Given the description of an element on the screen output the (x, y) to click on. 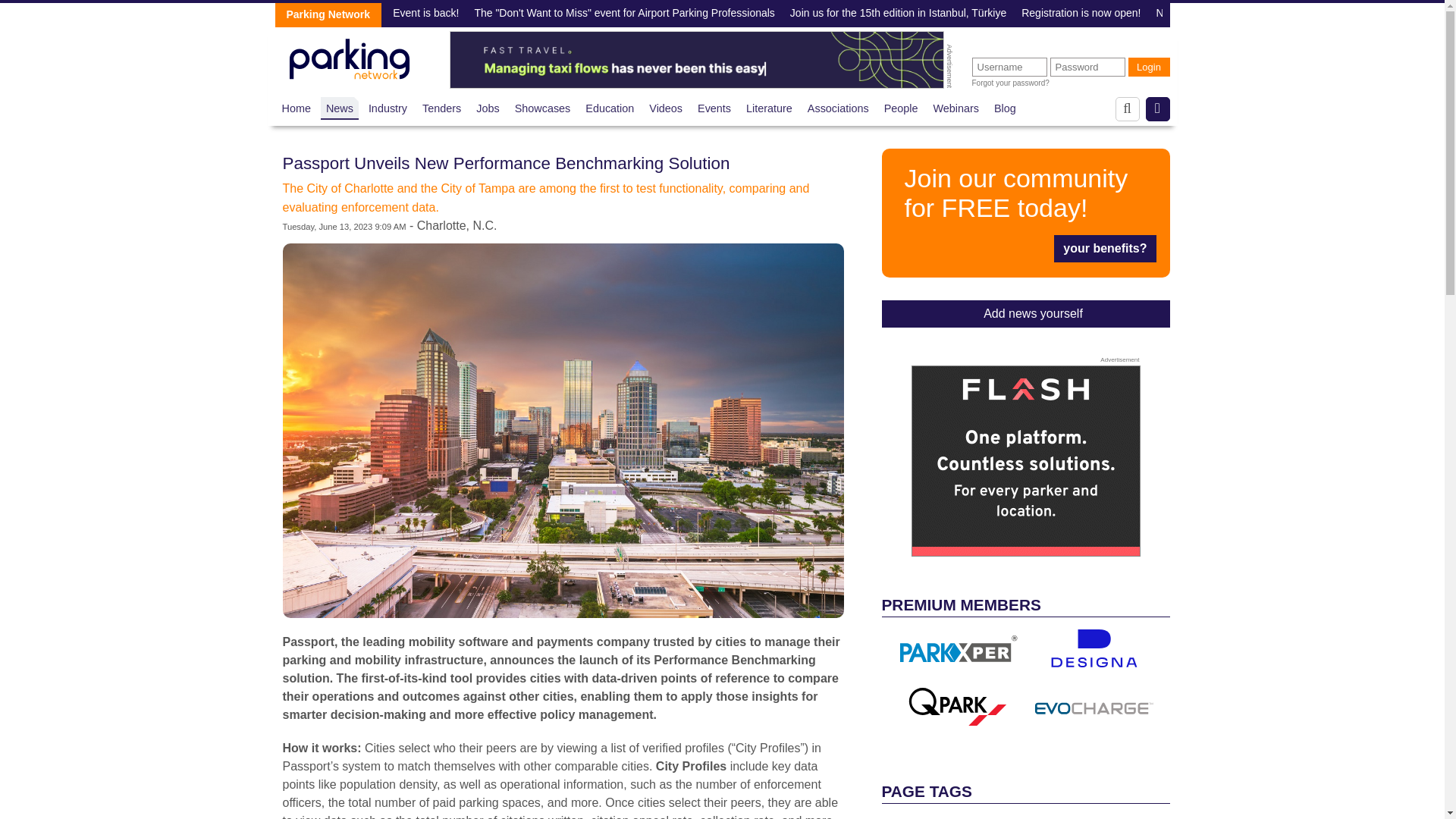
Register here (1024, 212)
Videos (665, 108)
Education (609, 108)
People (900, 108)
Jobs (487, 108)
Blog (1005, 108)
Events (713, 108)
Airport Parking Network Event is back! (367, 13)
Literature (768, 108)
